Given the description of an element on the screen output the (x, y) to click on. 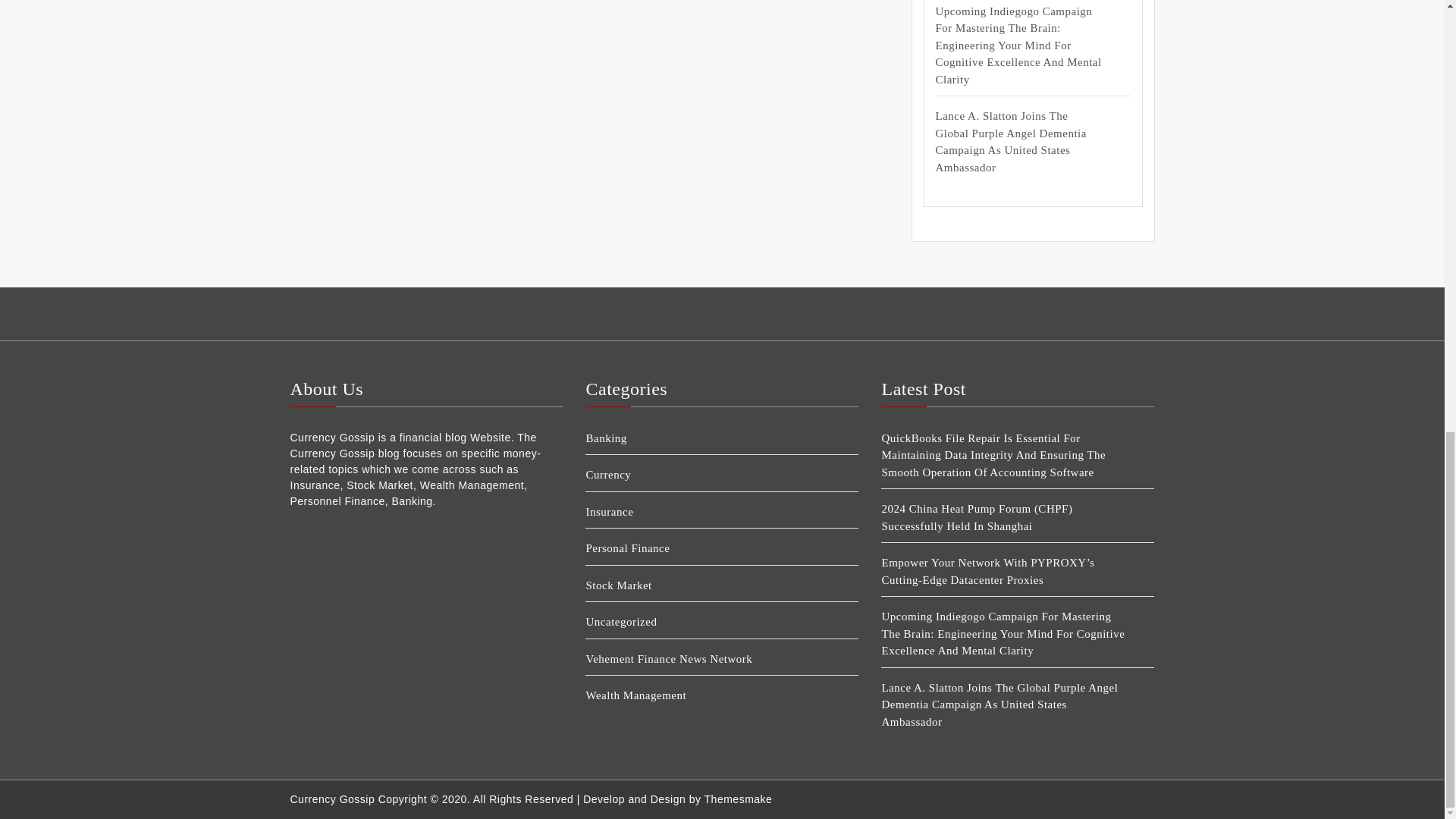
Wealth Management (708, 695)
Uncategorized (708, 621)
Insurance (708, 511)
Vehement Finance News Network (708, 659)
Develop and Design by Themesmake (677, 799)
